Given the description of an element on the screen output the (x, y) to click on. 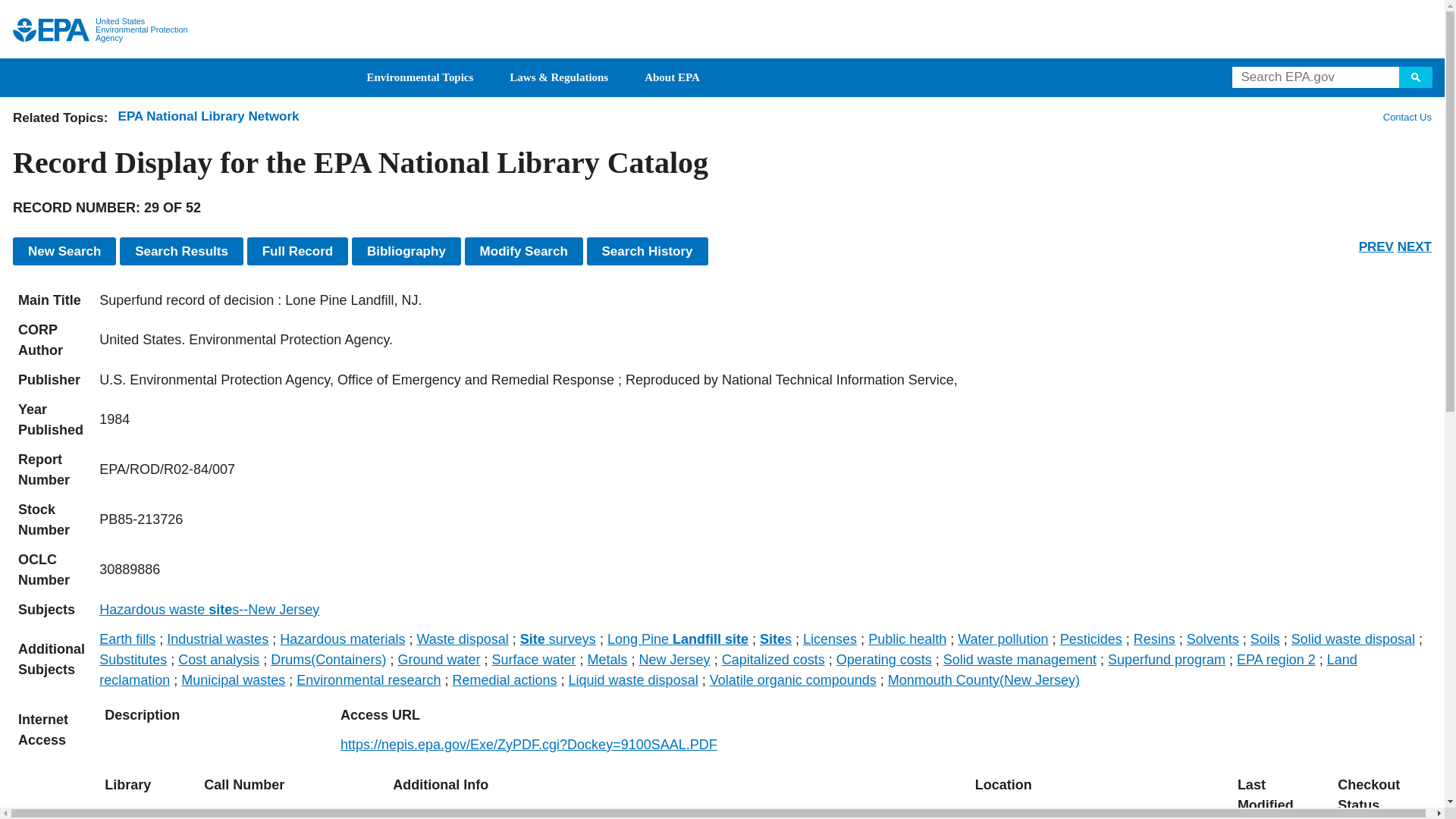
Show results in bibliographic format (406, 251)
Surface water (533, 659)
Resins (1154, 639)
Modify Search (523, 251)
Licenses (830, 639)
PREV (1375, 246)
Cost analysis (218, 659)
Contact Us (1406, 117)
Full Record (298, 251)
